Given the description of an element on the screen output the (x, y) to click on. 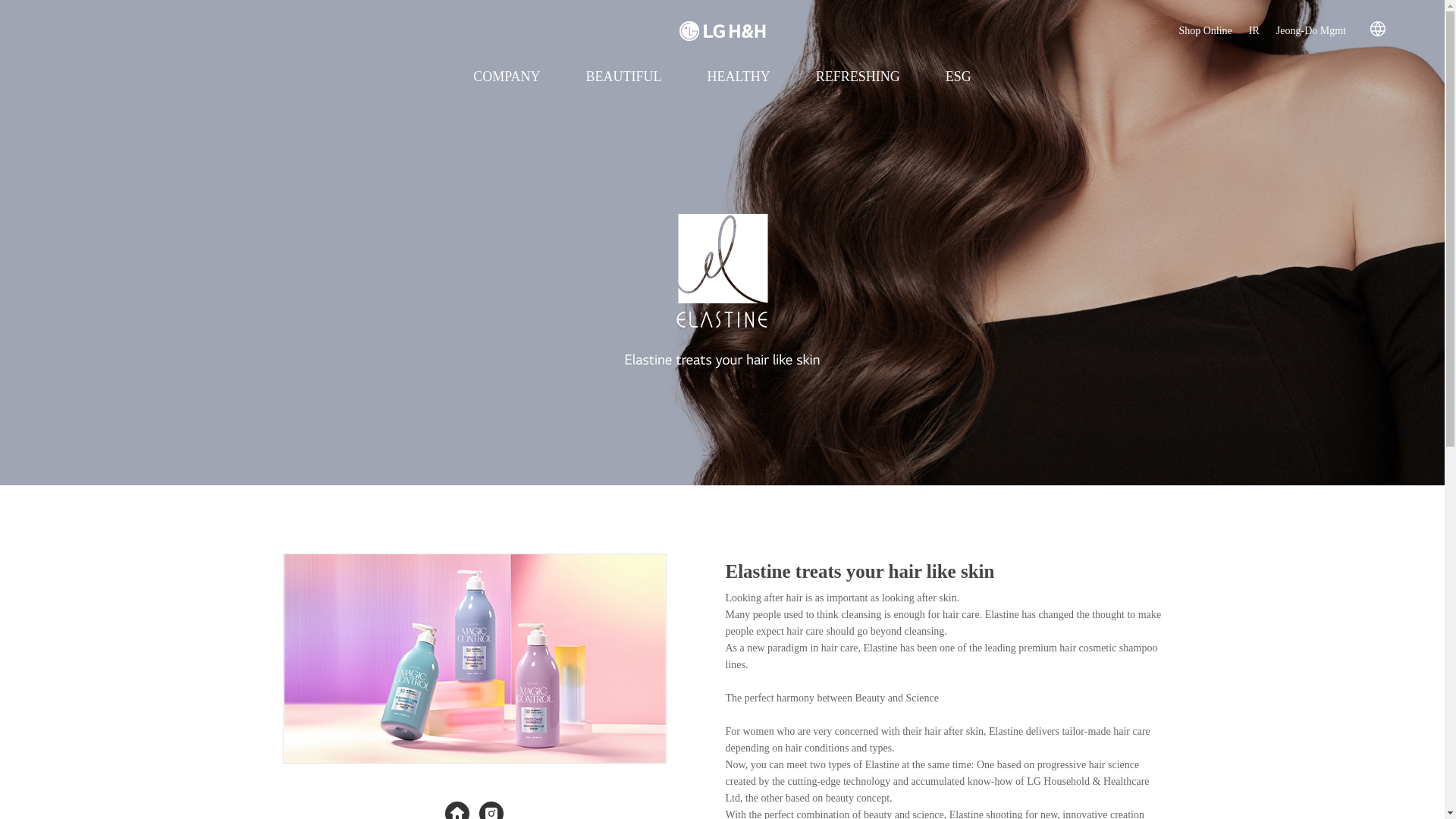
Jeong-Do Mgmt (1310, 30)
Shop Online (1204, 30)
IR (1254, 30)
LGHnH (722, 30)
COMPANY (505, 76)
BEAUTIFUL (623, 76)
